Given the description of an element on the screen output the (x, y) to click on. 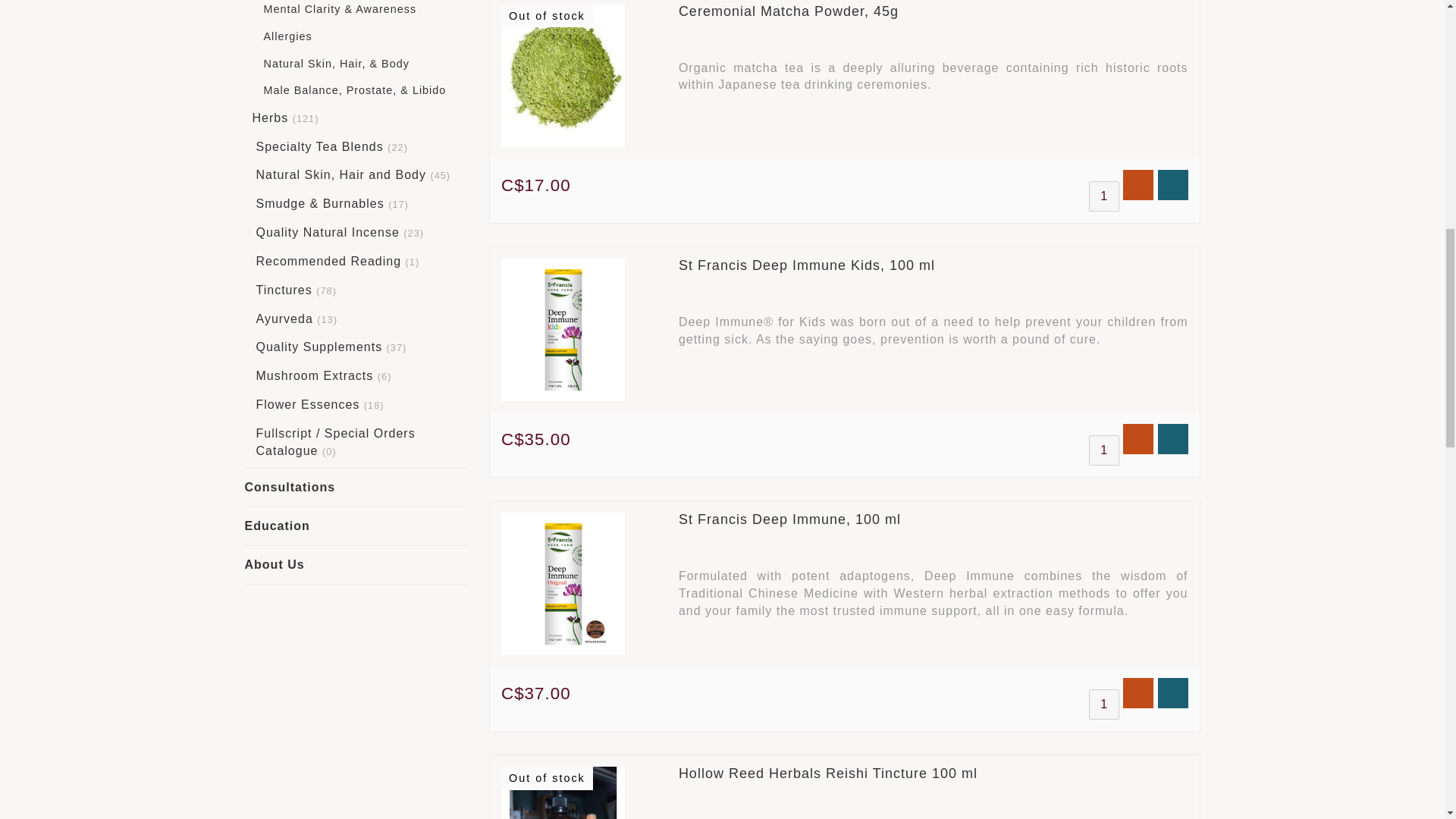
Hollow Reed Herbals Reishi Tincture 100 ml (562, 792)
1 (1104, 195)
St Francis Deep Immune, 100 ml (789, 519)
St Francis Deep Immune Kids, 100 ml (806, 264)
Hollow Reed Herbals Reishi Tincture 100 ml (827, 773)
1 (1104, 450)
Ceremonial Matcha Powder, 45g (788, 11)
1 (1104, 704)
